Given the description of an element on the screen output the (x, y) to click on. 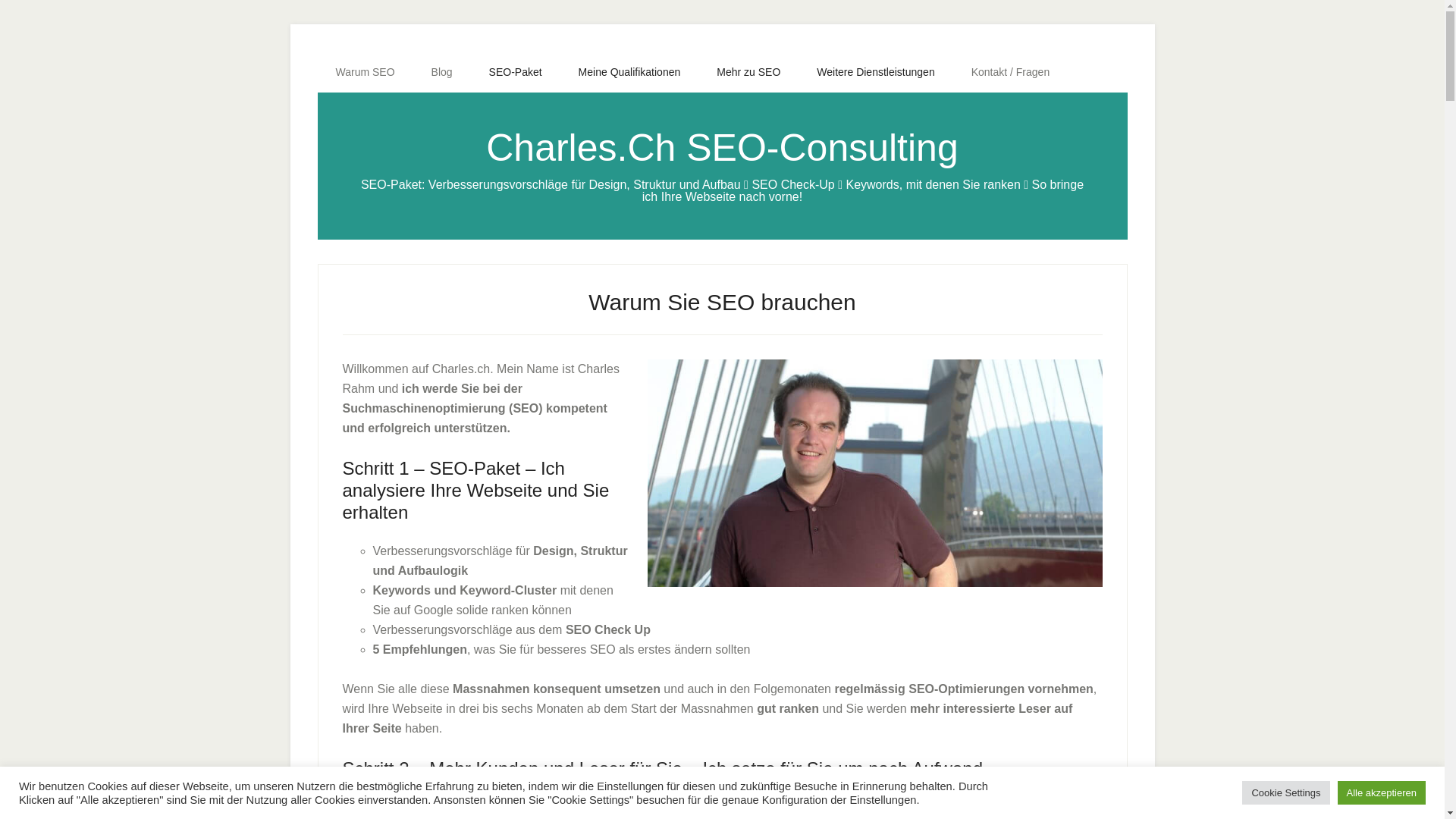
Warum SEO Element type: text (364, 71)
Skip to main content Element type: text (0, 0)
Cookie Settings Element type: text (1285, 792)
Kontakt / Fragen Element type: text (1010, 71)
Charles.Ch SEO-Consulting Element type: text (722, 147)
Weitere Dienstleistungen Element type: text (875, 71)
Alle akzeptieren Element type: text (1381, 792)
Meine Qualifikationen Element type: text (629, 71)
Mehr zu SEO Element type: text (748, 71)
Blog Element type: text (441, 71)
SEO-Paket Element type: text (515, 71)
